Given the description of an element on the screen output the (x, y) to click on. 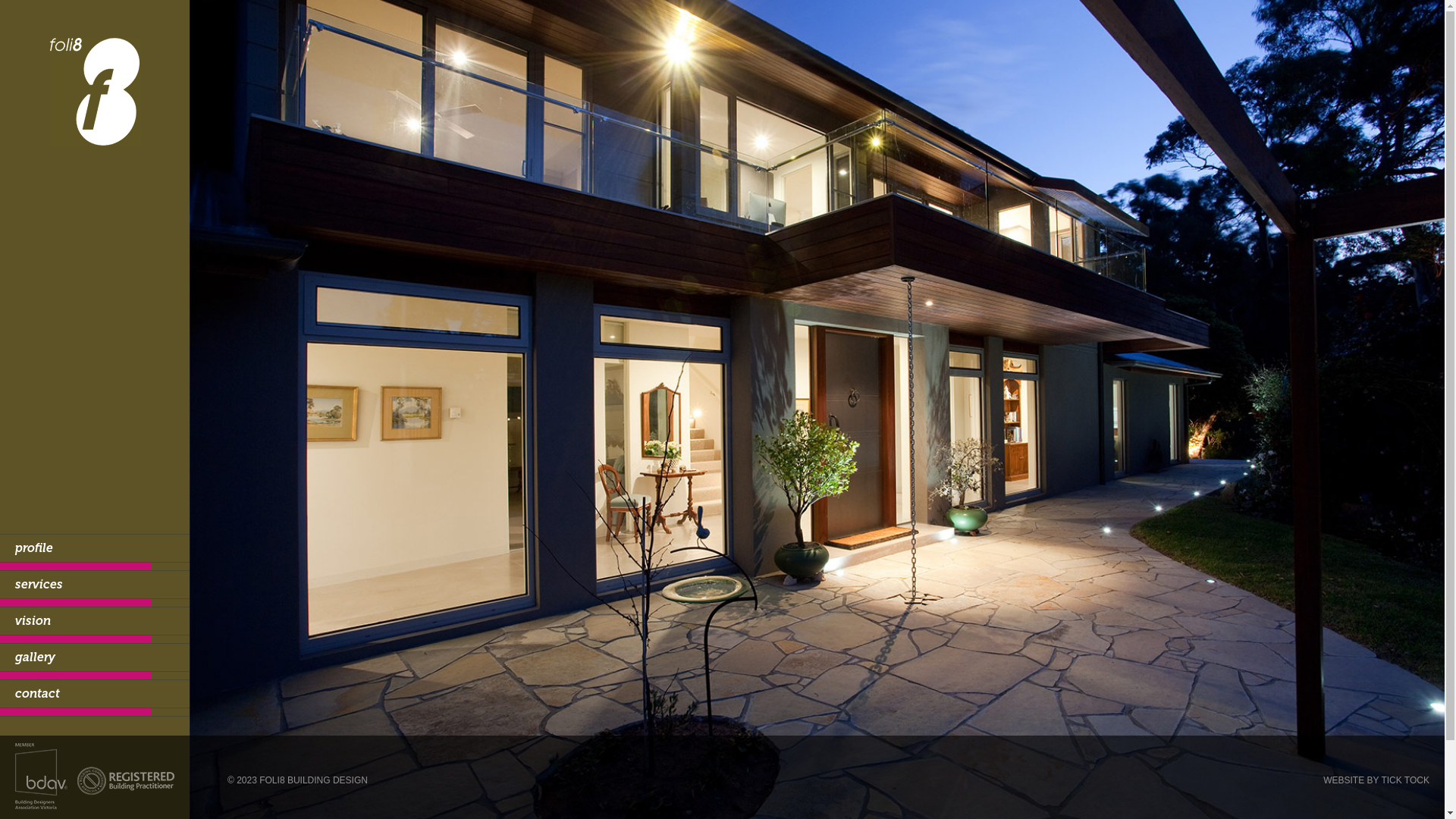
gallery Element type: text (94, 657)
contact Element type: text (94, 693)
Foli8 Building Design Element type: hover (94, 76)
services Element type: text (94, 584)
vision Element type: text (94, 620)
profile Element type: text (94, 547)
